Given the description of an element on the screen output the (x, y) to click on. 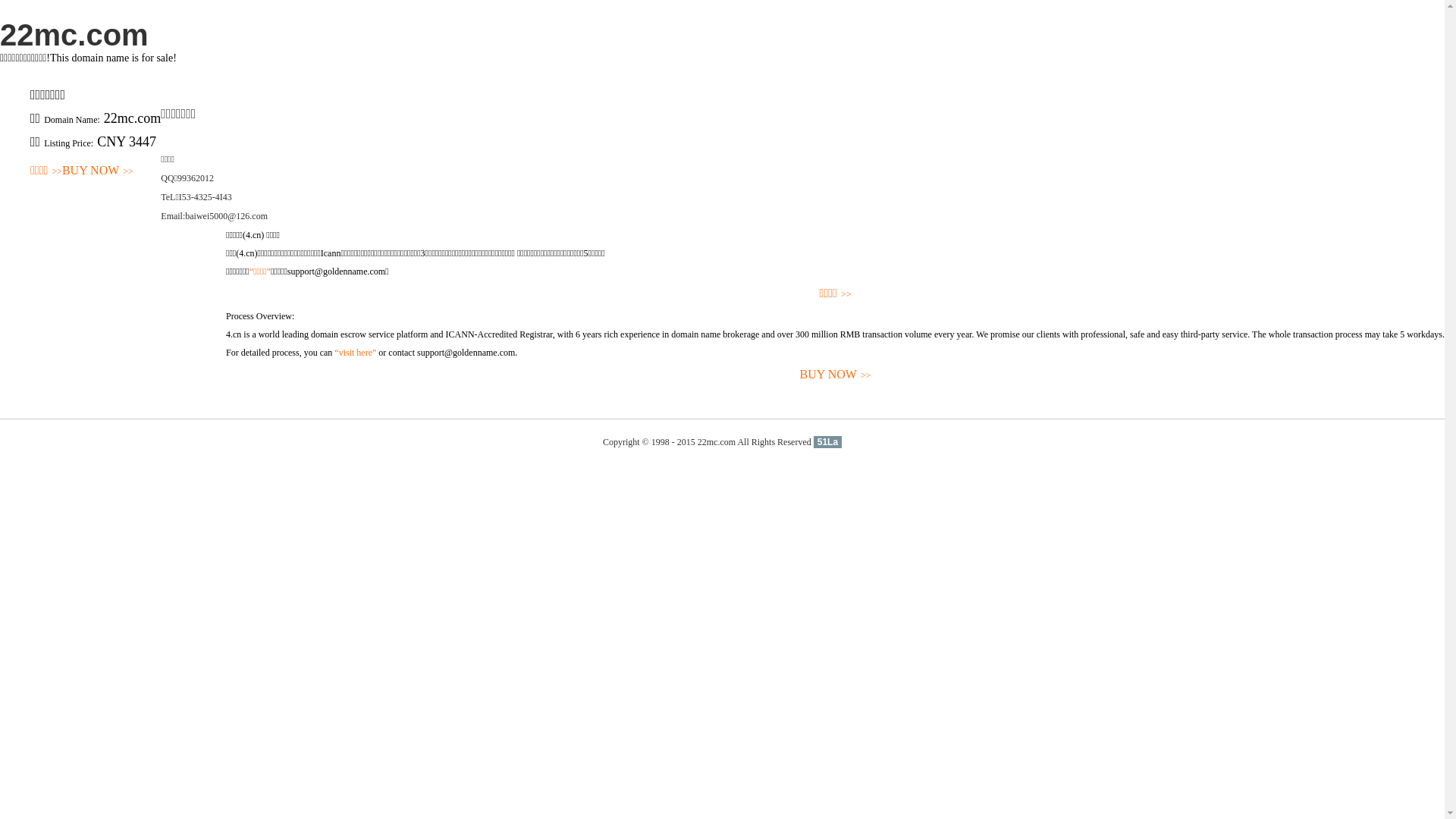
BUY NOW>> Element type: text (97, 170)
BUY NOW>> Element type: text (834, 374)
51La Element type: text (827, 441)
